Given the description of an element on the screen output the (x, y) to click on. 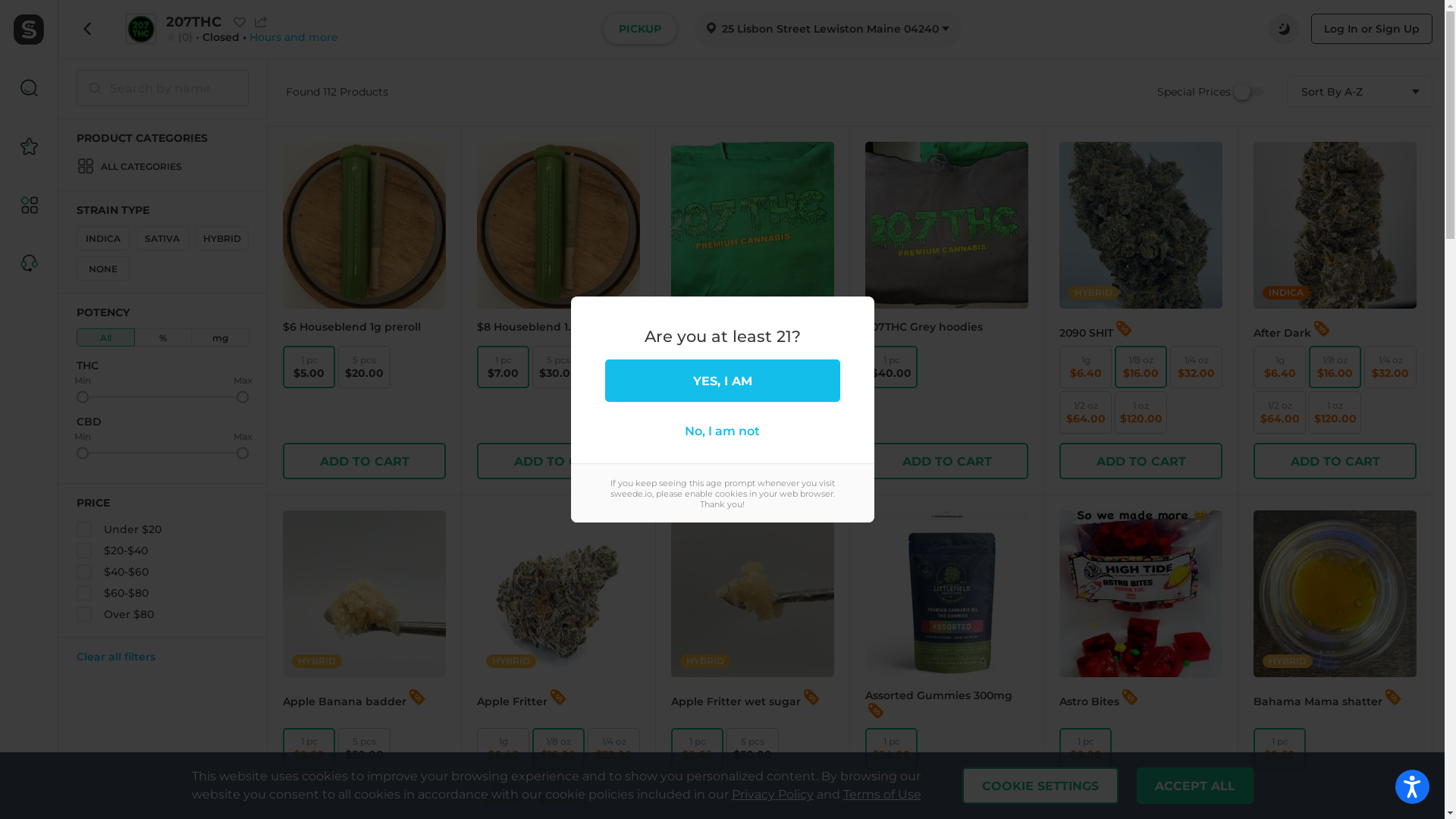
All Element type: text (105, 337)
ADD TO CART Element type: text (946, 460)
(0) Element type: text (184, 36)
ADD TO CART Element type: text (752, 460)
207THC Green hoodies
1 pc
$40.00
ADD TO CART Element type: text (752, 310)
COOKIE SETTINGS Element type: text (1039, 785)
No, I am not Element type: text (722, 430)
ADD TO CART Element type: text (1140, 460)
mg Element type: text (220, 337)
Log In or Sign Up Element type: text (1371, 28)
207THC Grey hoodies
1 pc
$40.00
ADD TO CART Element type: text (946, 310)
ADD TO CART Element type: text (558, 460)
Terms of Use Element type: text (882, 794)
Hours and more Element type: text (293, 36)
ADD TO CART Element type: text (363, 460)
ACCEPT ALL Element type: text (1193, 785)
% Element type: text (163, 337)
$6 Houseblend 1g preroll
1 pc
$5.00
5 pcs
$20.00
ADD TO CART Element type: text (363, 310)
Clear all filters Element type: text (162, 656)
ADD TO CART Element type: text (1334, 460)
YES, I AM Element type: text (722, 380)
Privacy Policy Element type: text (771, 794)
